Given the description of an element on the screen output the (x, y) to click on. 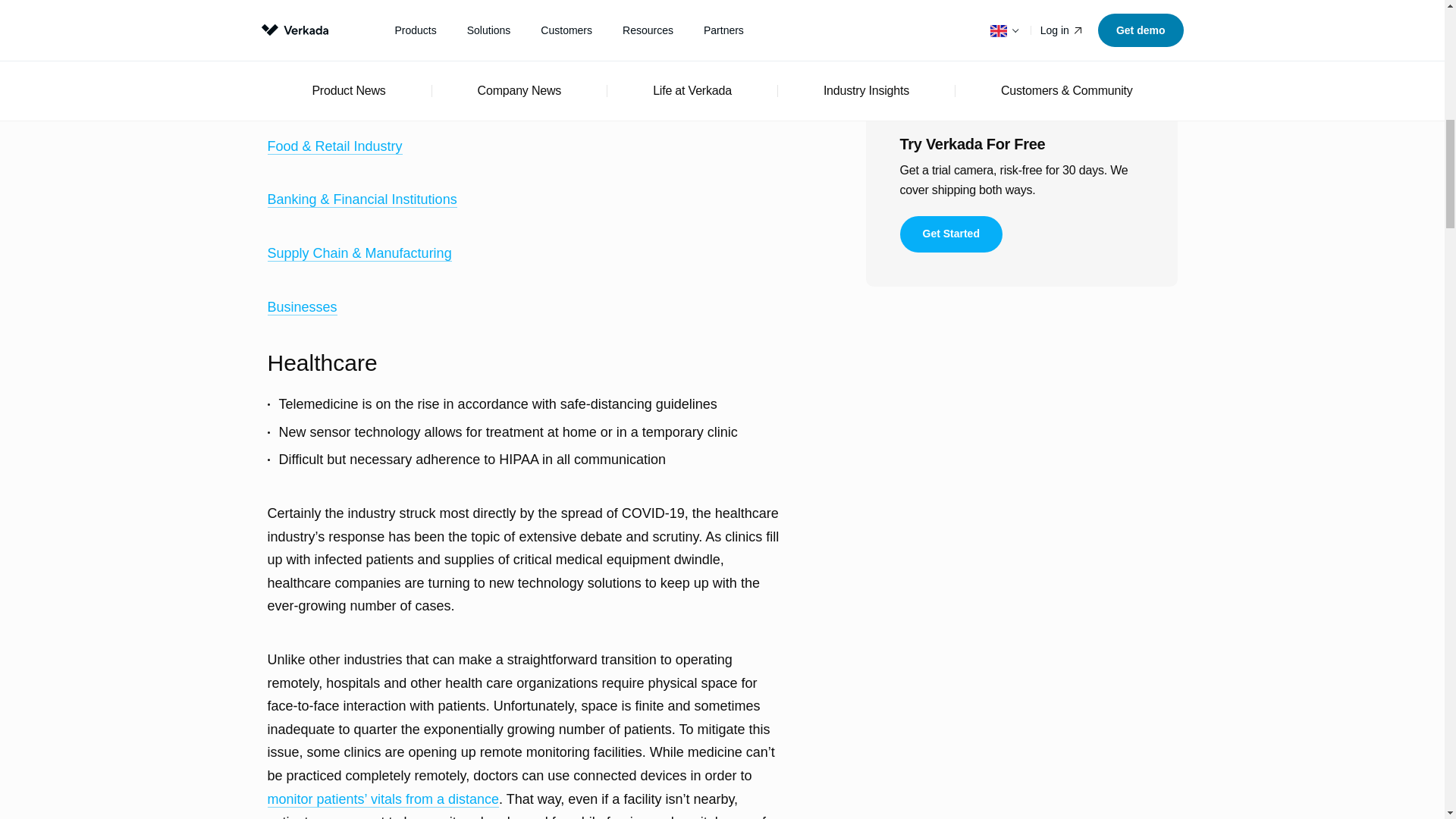
Businesses (301, 307)
Healthcare (299, 39)
Education (296, 92)
